Given the description of an element on the screen output the (x, y) to click on. 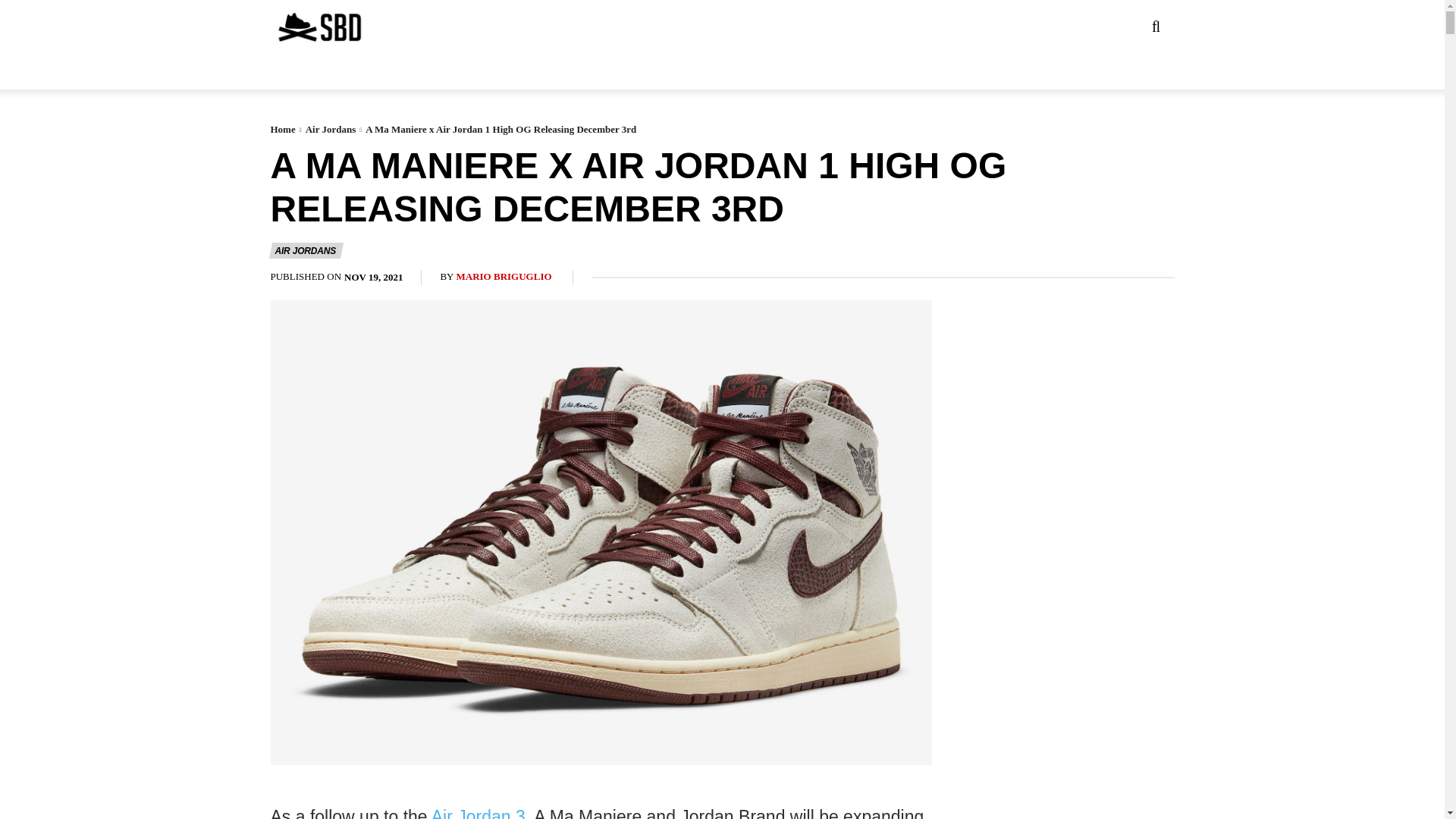
Sneaker News and Release Dates (318, 26)
Sneaker News and Release Dates (288, 26)
View all posts in Air Jordans (330, 129)
